Given the description of an element on the screen output the (x, y) to click on. 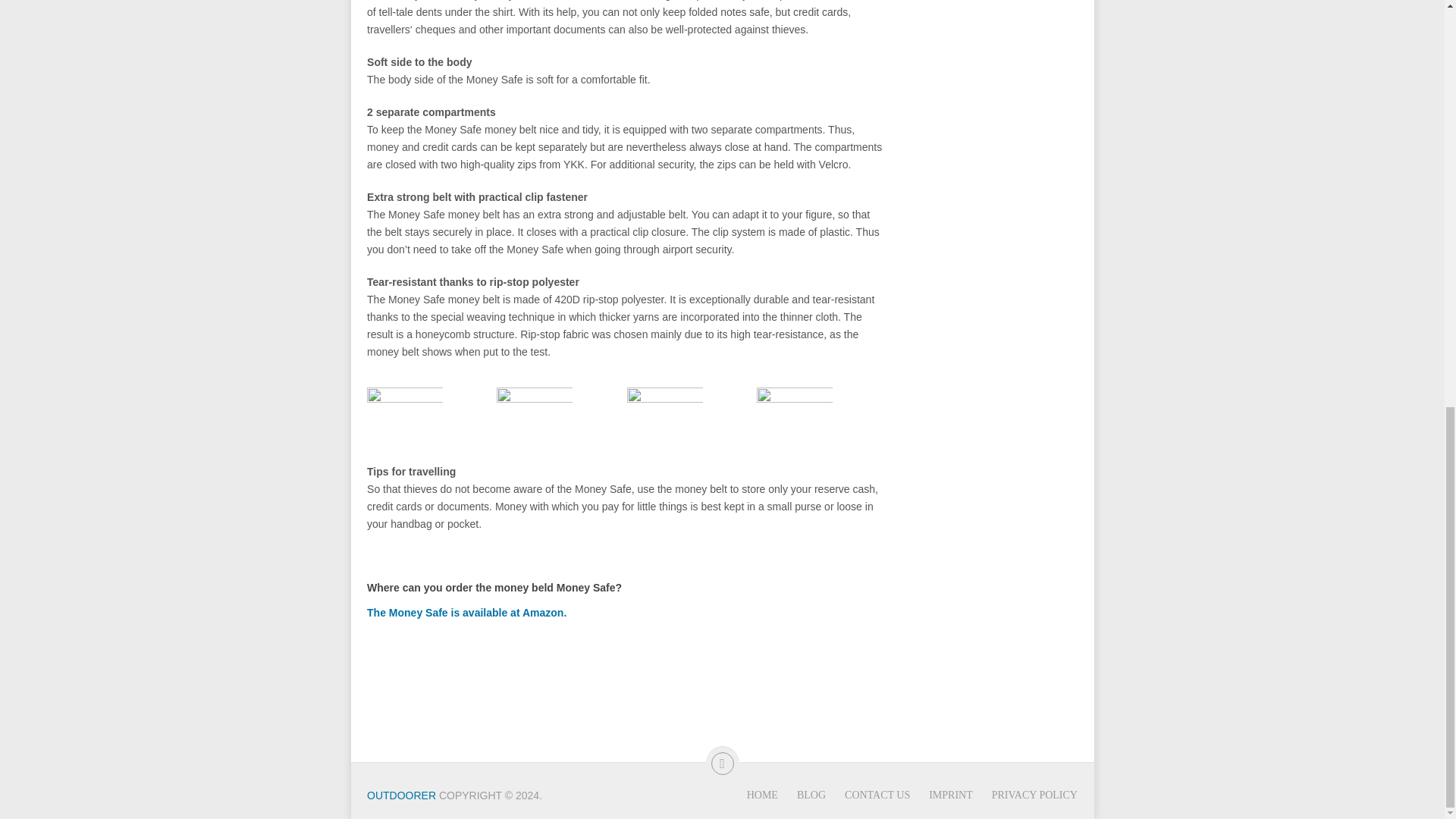
HOME (761, 794)
The Money Safe is available at Amazon. (466, 612)
BLOG (810, 794)
OUTDOORER (400, 795)
IMPRINT (950, 794)
Equipment, that works! (400, 795)
CONTACT US (877, 794)
PRIVACY POLICY (1034, 794)
